Given the description of an element on the screen output the (x, y) to click on. 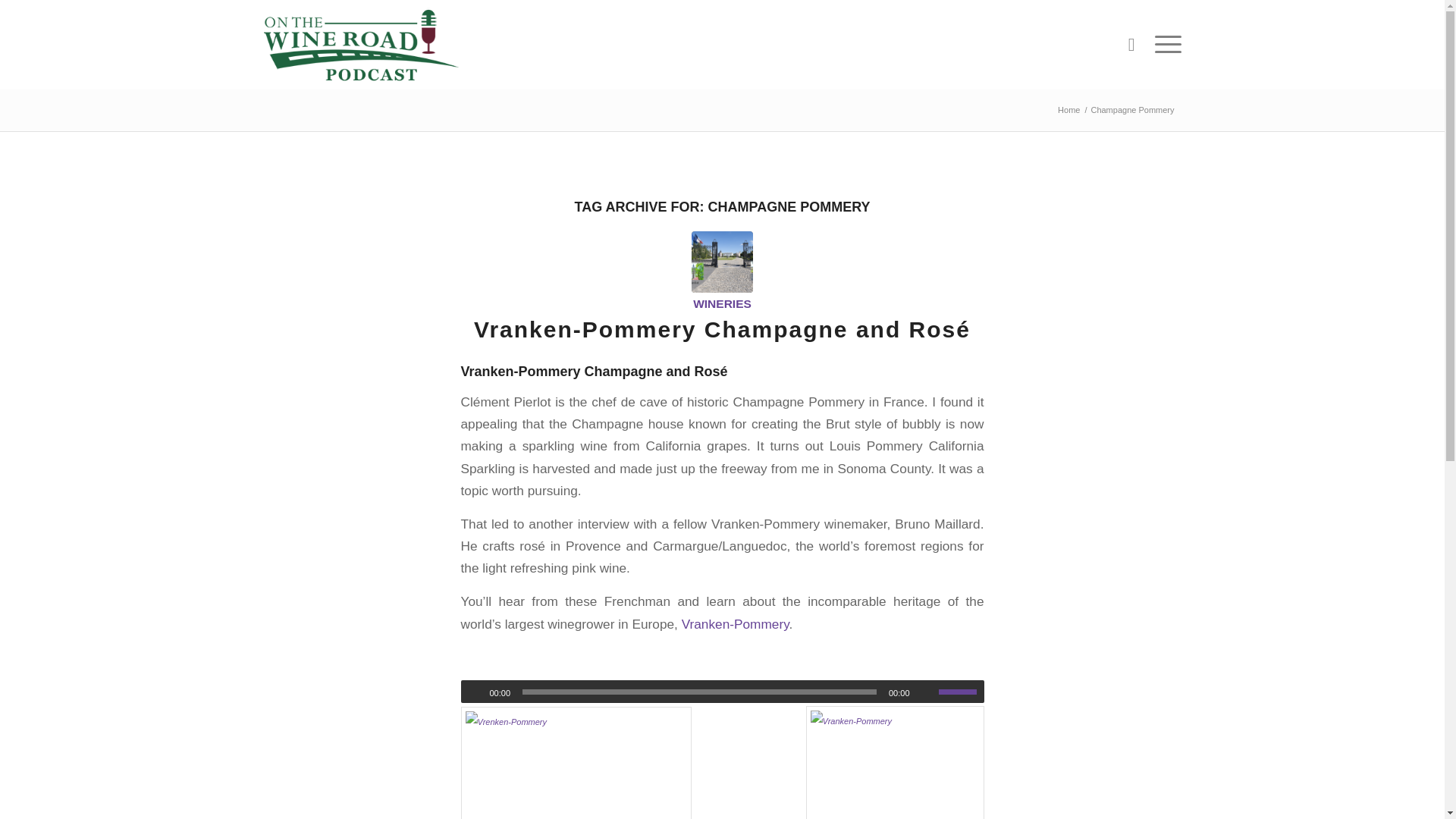
Play (472, 692)
Vranken-pommery--OTWR 2 (721, 261)
Vranken-Pommery (735, 623)
Home (1068, 110)
Podcast Logo for website copy (360, 44)
On The Wine Road (1068, 110)
WINERIES (722, 303)
Mute (926, 692)
